Given the description of an element on the screen output the (x, y) to click on. 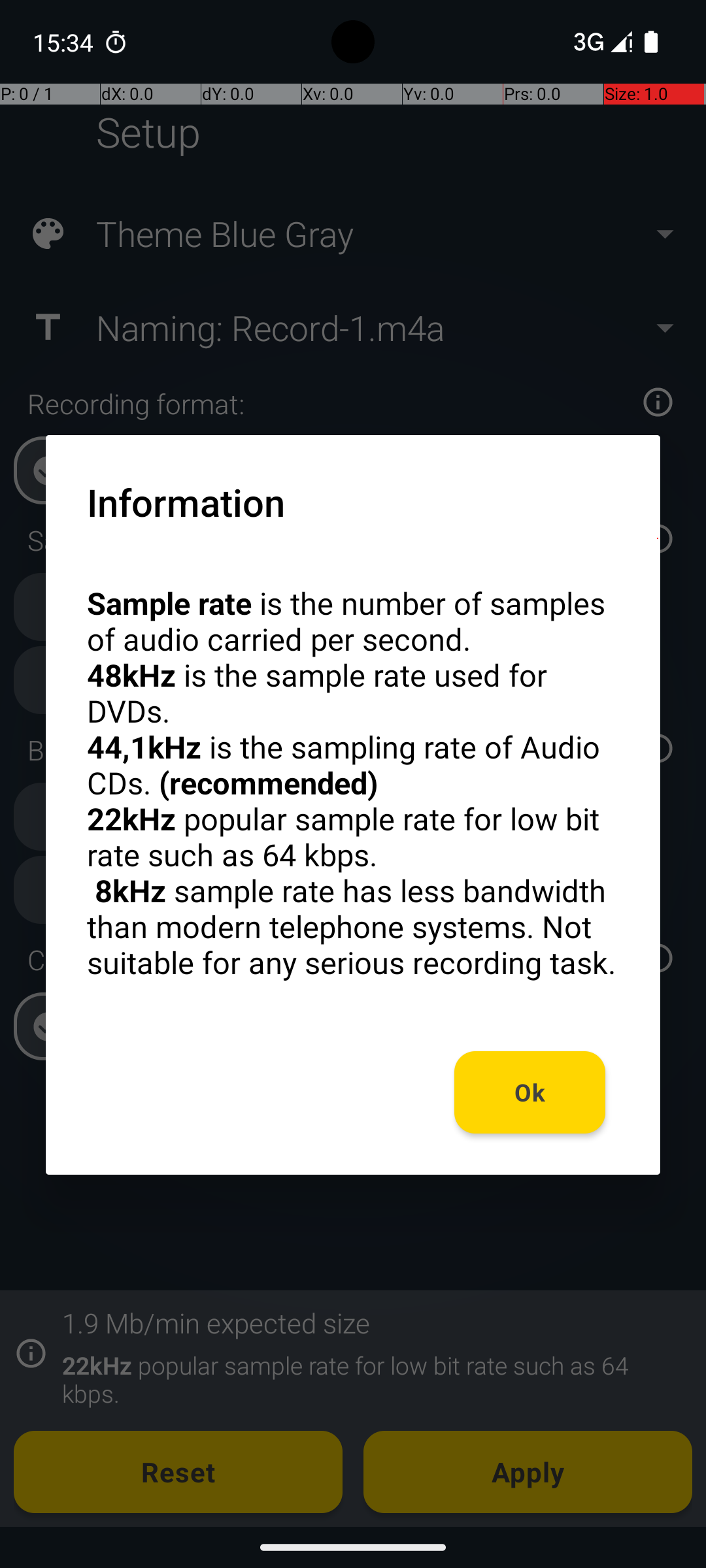
Sample rate is the number of samples of audio carried per second. 
48kHz is the sample rate used for DVDs. 
44,1kHz is the sampling rate of Audio CDs. (recommended) 
22kHz popular sample rate for low bit rate such as 64 kbps. 
 8kHz sample rate has less bandwidth than modern telephone systems. Not suitable for any serious recording task.  Element type: android.widget.TextView (352, 782)
